Given the description of an element on the screen output the (x, y) to click on. 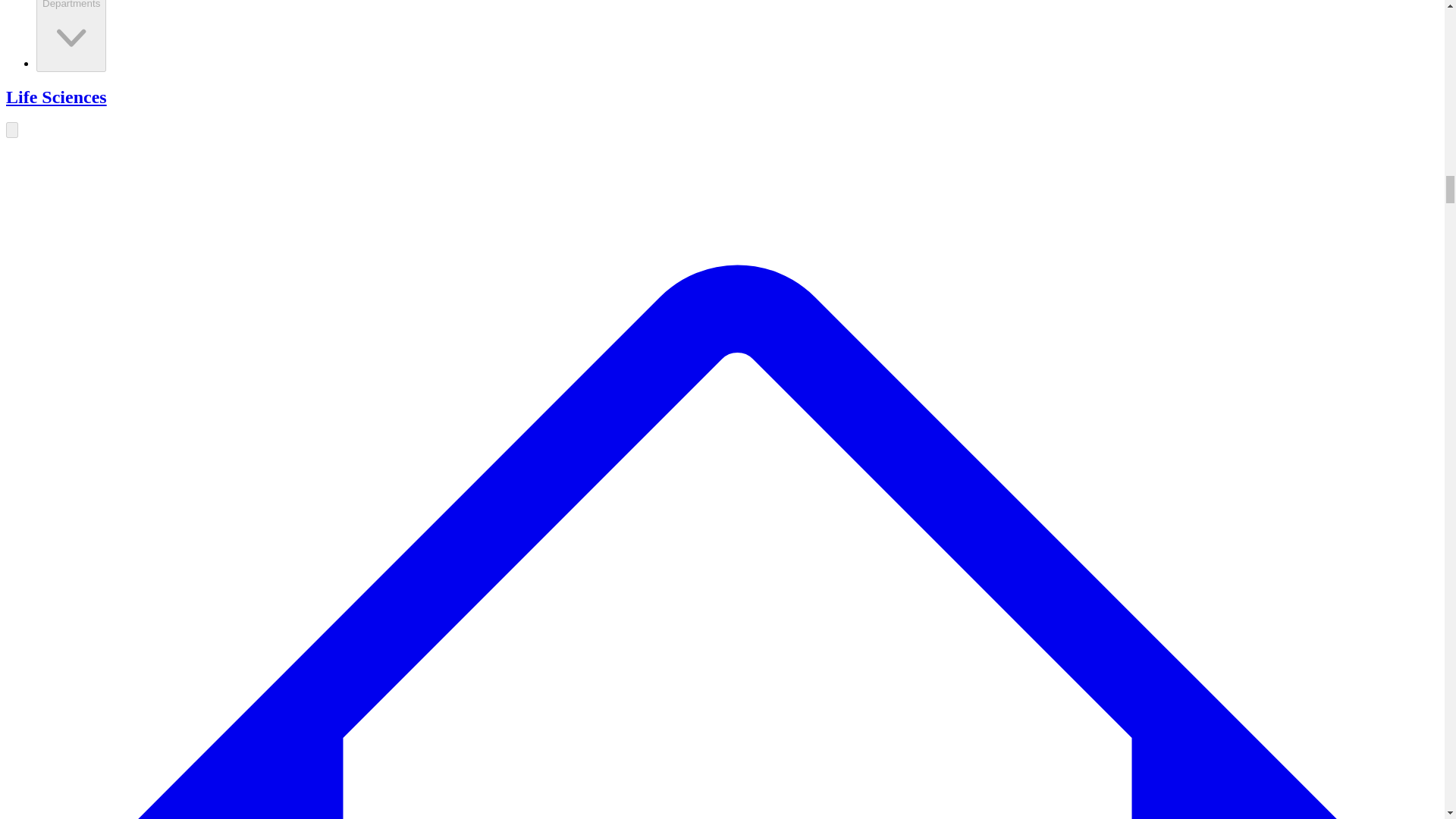
Life Sciences (55, 96)
Departments (71, 35)
